Given the description of an element on the screen output the (x, y) to click on. 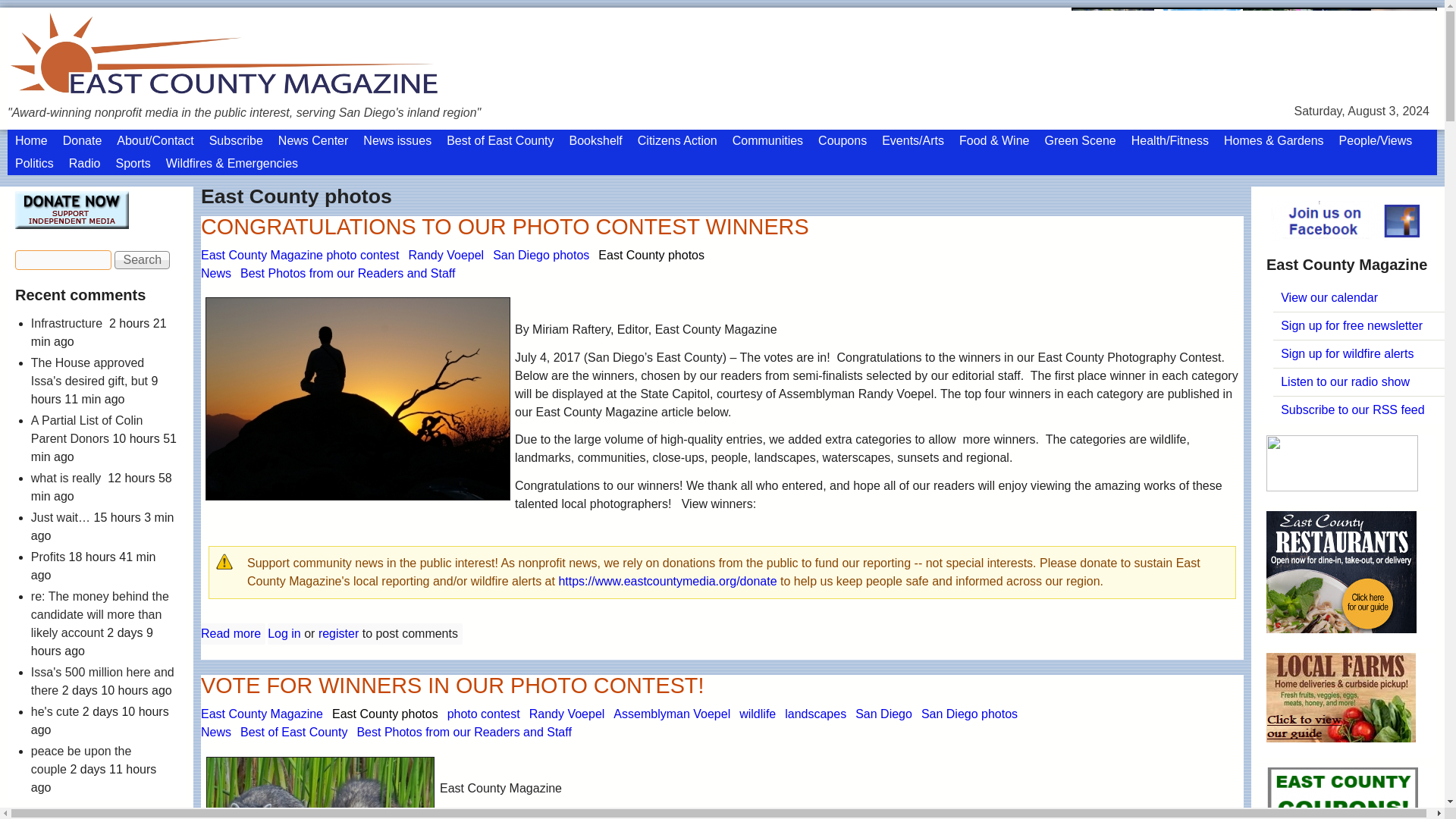
Best of East County (499, 94)
Search (142, 213)
Home (31, 94)
Subscribe (236, 94)
News issues (397, 94)
News Center (312, 94)
Donate (82, 94)
